Given the description of an element on the screen output the (x, y) to click on. 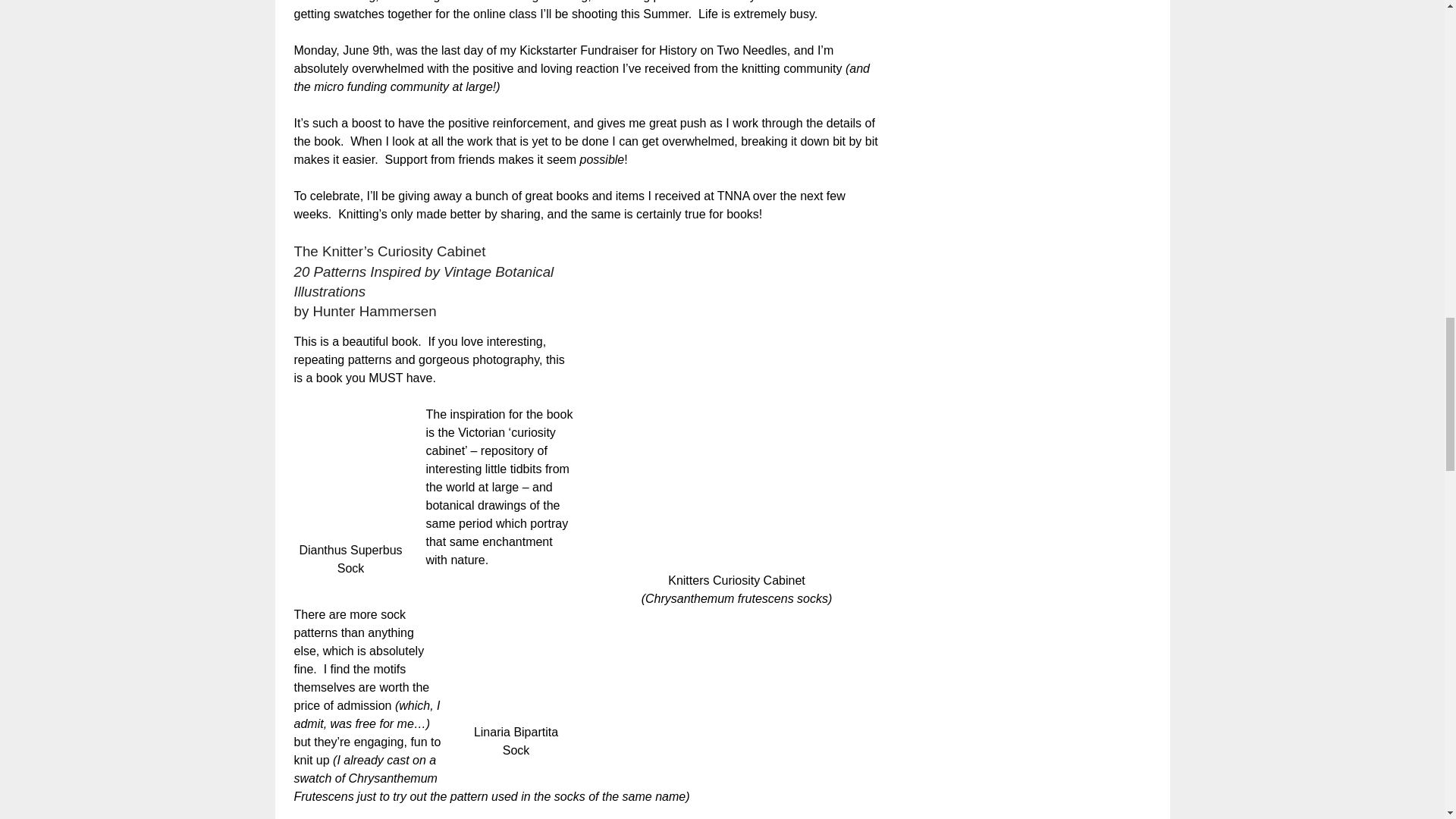
Knitters Curiosity Cabinet Sock 6 (350, 474)
Knitters Curiosity Cabinet Sock 10 (516, 656)
Knitters Curiosity Cabinet Front Cover (736, 407)
